Given the description of an element on the screen output the (x, y) to click on. 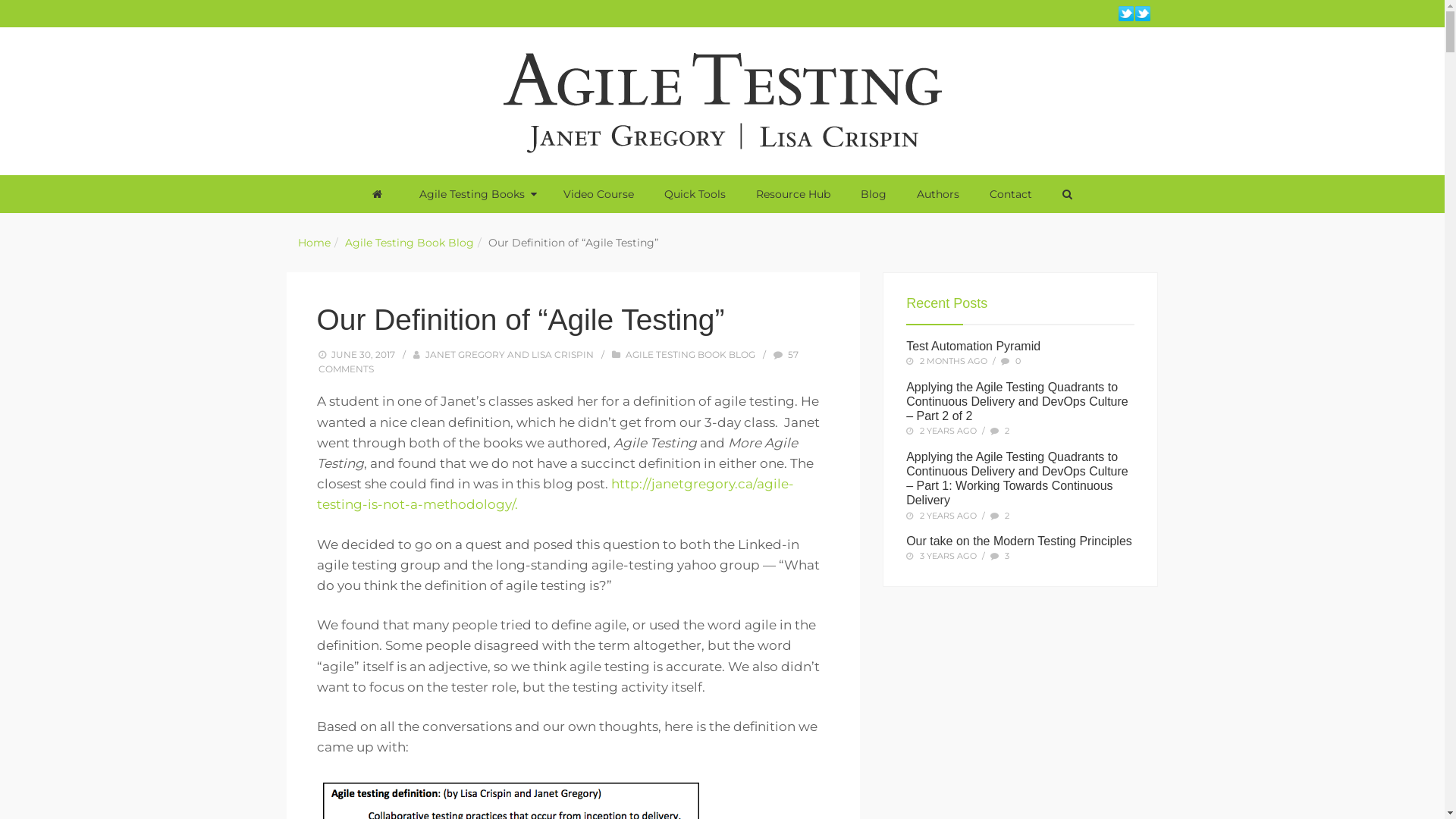
Quick Tools Element type: text (694, 194)
Contact Element type: text (1009, 194)
0 Element type: text (1017, 360)
Agile Testing Book Blog Element type: text (408, 242)
http://janetgregory.ca/agile-testing-is-not-a-methodology/. Element type: text (554, 493)
57 COMMENTS Element type: text (558, 361)
3 Element type: text (1006, 555)
Home Element type: text (313, 242)
Our take on the Modern Testing Principles Element type: text (1019, 540)
Video Course Element type: text (597, 194)
Resource Hub Element type: text (792, 194)
Agile Testing Element type: hover (721, 99)
2 Element type: text (1006, 430)
Blog Element type: text (872, 194)
Agile Testing Books Element type: text (475, 194)
JANET GREGORY AND LISA CRISPIN Element type: text (509, 354)
Twitter | Janet Gregory Element type: text (1141, 13)
Test Automation Pyramid Element type: text (973, 345)
2 Element type: text (1006, 515)
AGILE TESTING BOOK BLOG Element type: text (690, 354)
Twitter | Lisa Crispin Element type: text (1124, 13)
Authors Element type: text (936, 194)
  Element type: text (379, 194)
